Given the description of an element on the screen output the (x, y) to click on. 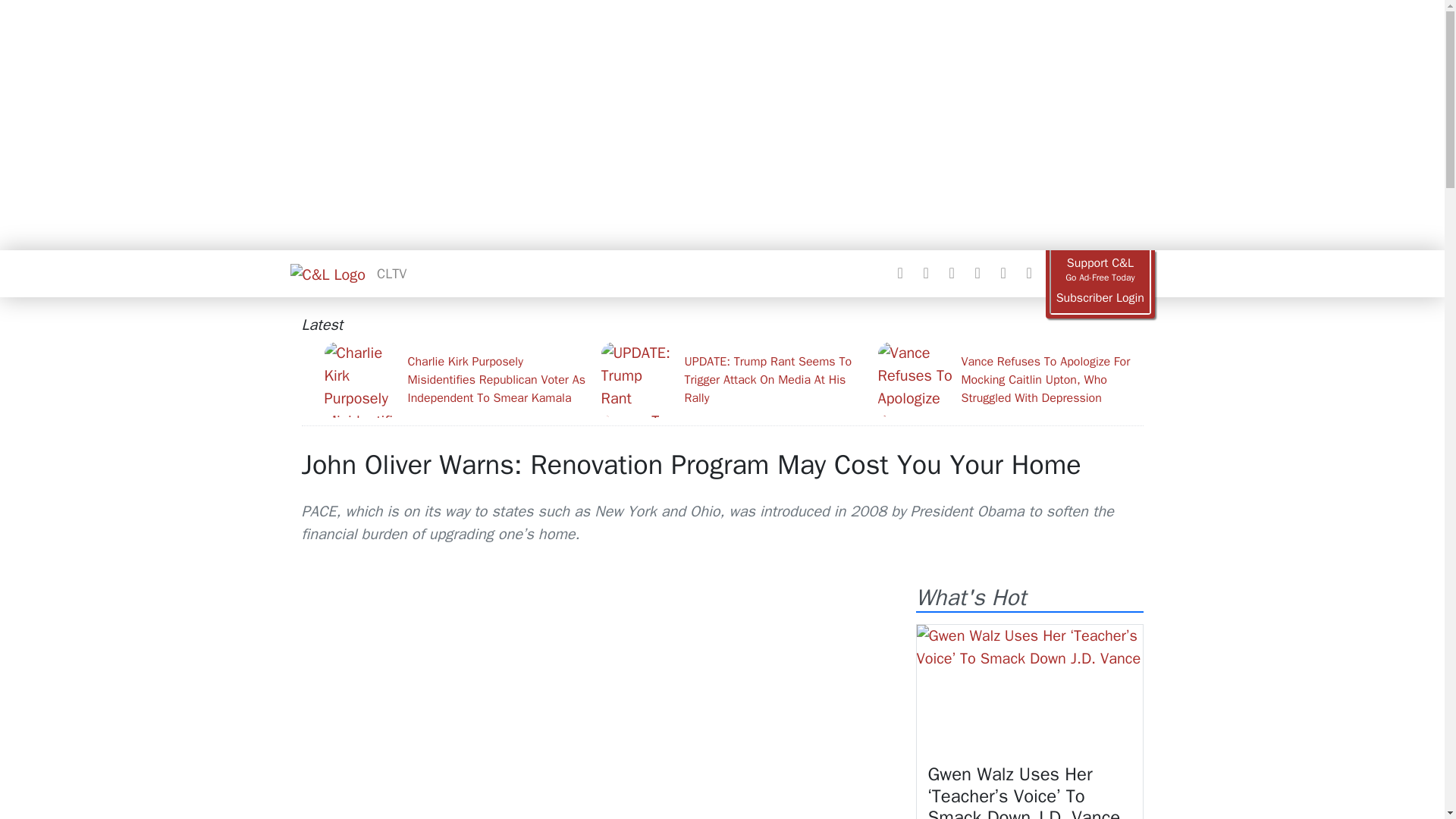
Login to your ad free account (1099, 298)
CLTV (391, 273)
Subscriber Login (1099, 298)
Go ad free today! (1099, 270)
John Oliver Warns: Renovation Program May Cost You Your Home (691, 464)
